Given the description of an element on the screen output the (x, y) to click on. 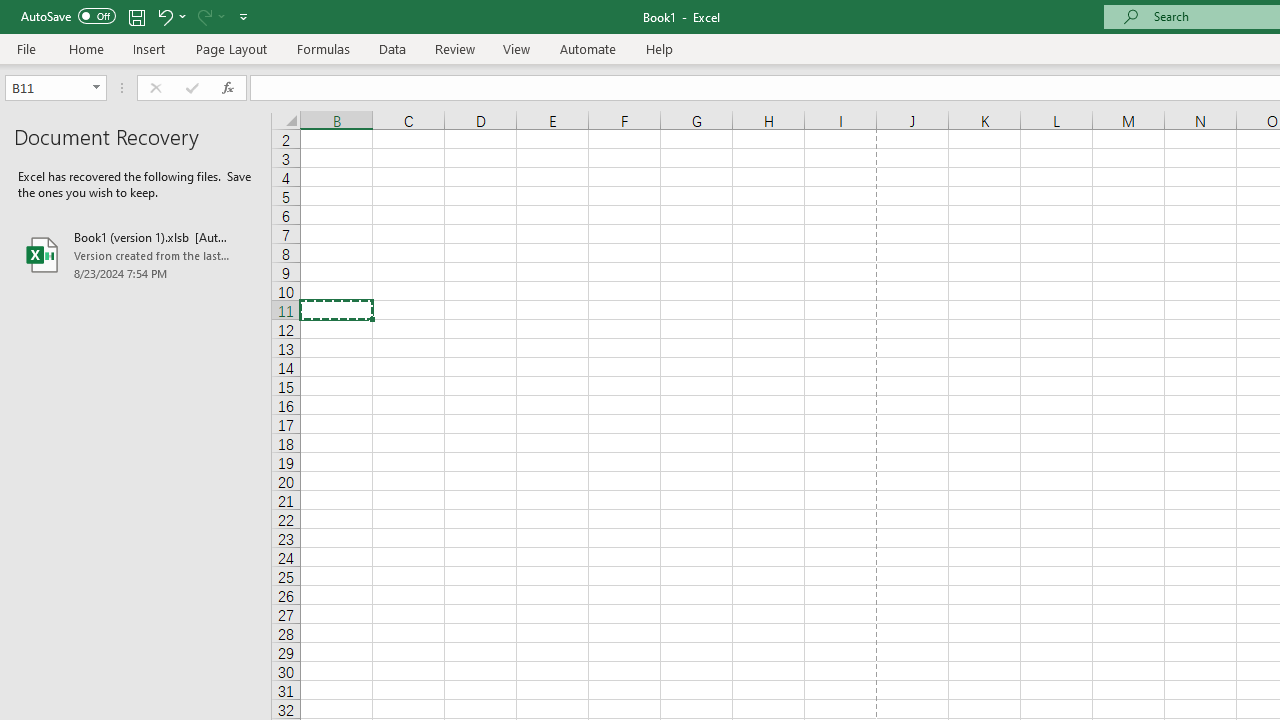
AutoSave (68, 16)
